Given the description of an element on the screen output the (x, y) to click on. 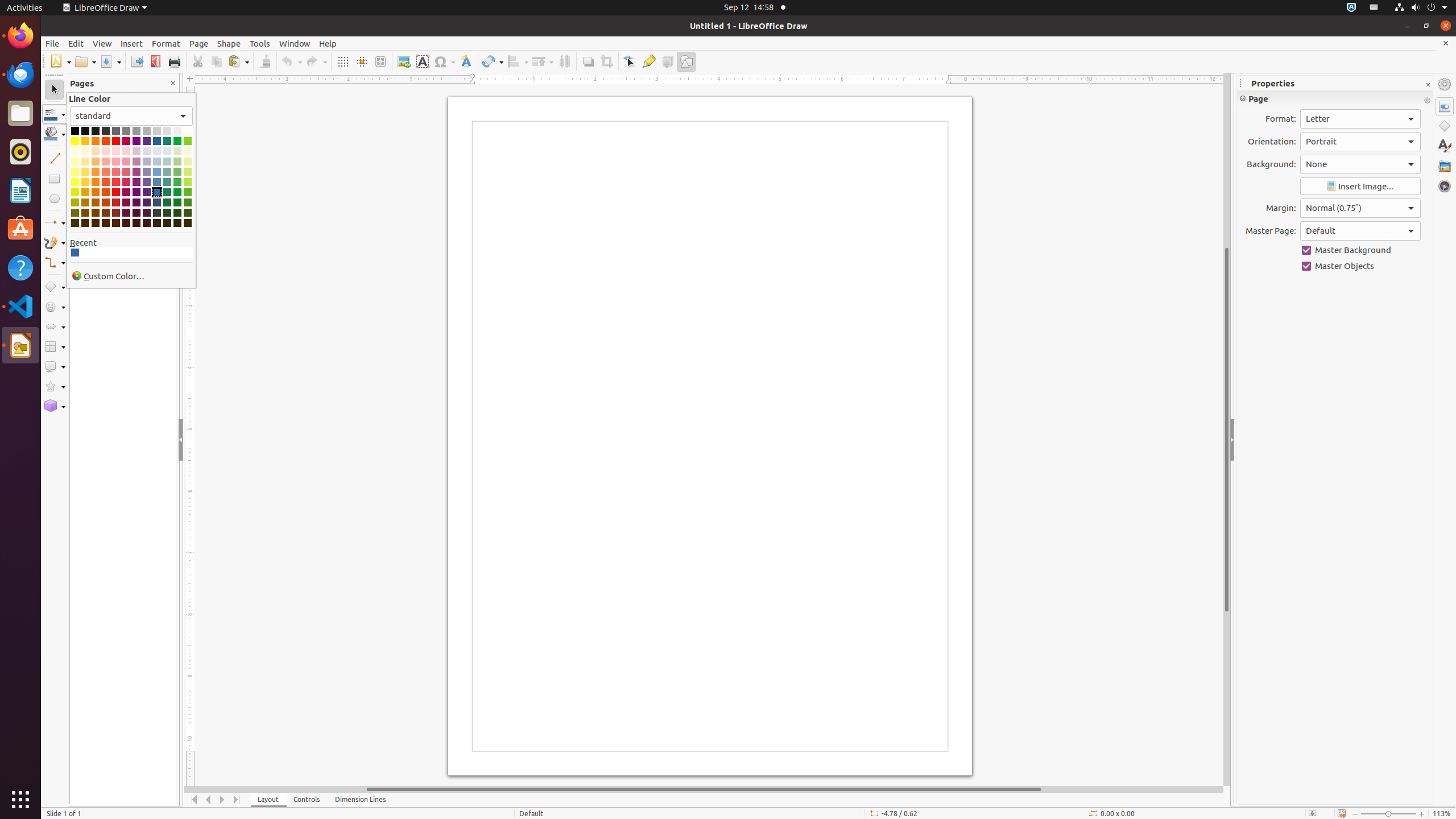
Glue Points Element type: push-button (648, 61)
Save Element type: push-button (109, 61)
Distribution Element type: push-button (564, 61)
Orientation: Element type: combo-box (1360, 141)
Light Green 4 Element type: list-item (177, 151)
